Given the description of an element on the screen output the (x, y) to click on. 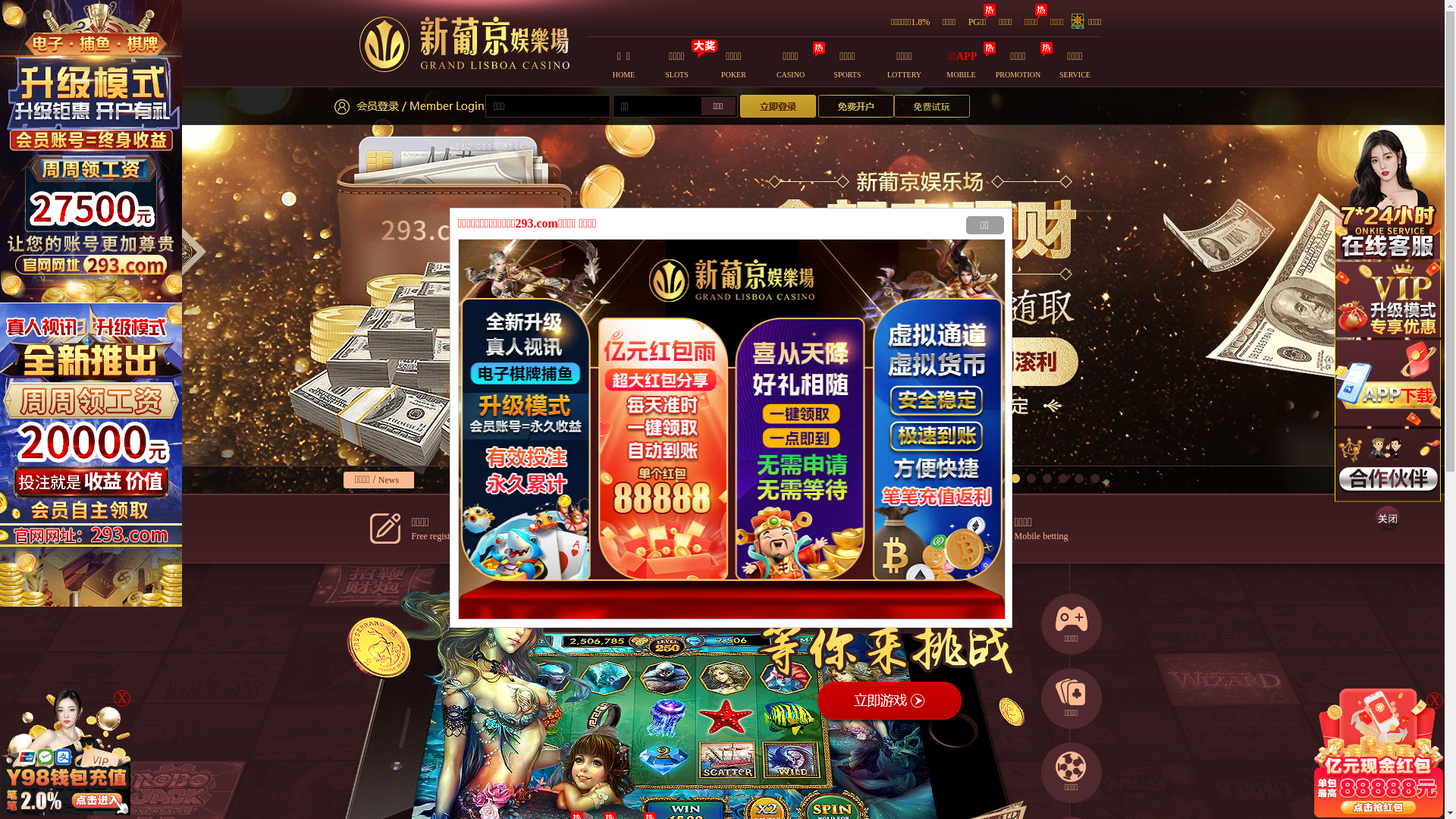
X Element type: text (121, 698)
X Element type: text (1434, 700)
